Given the description of an element on the screen output the (x, y) to click on. 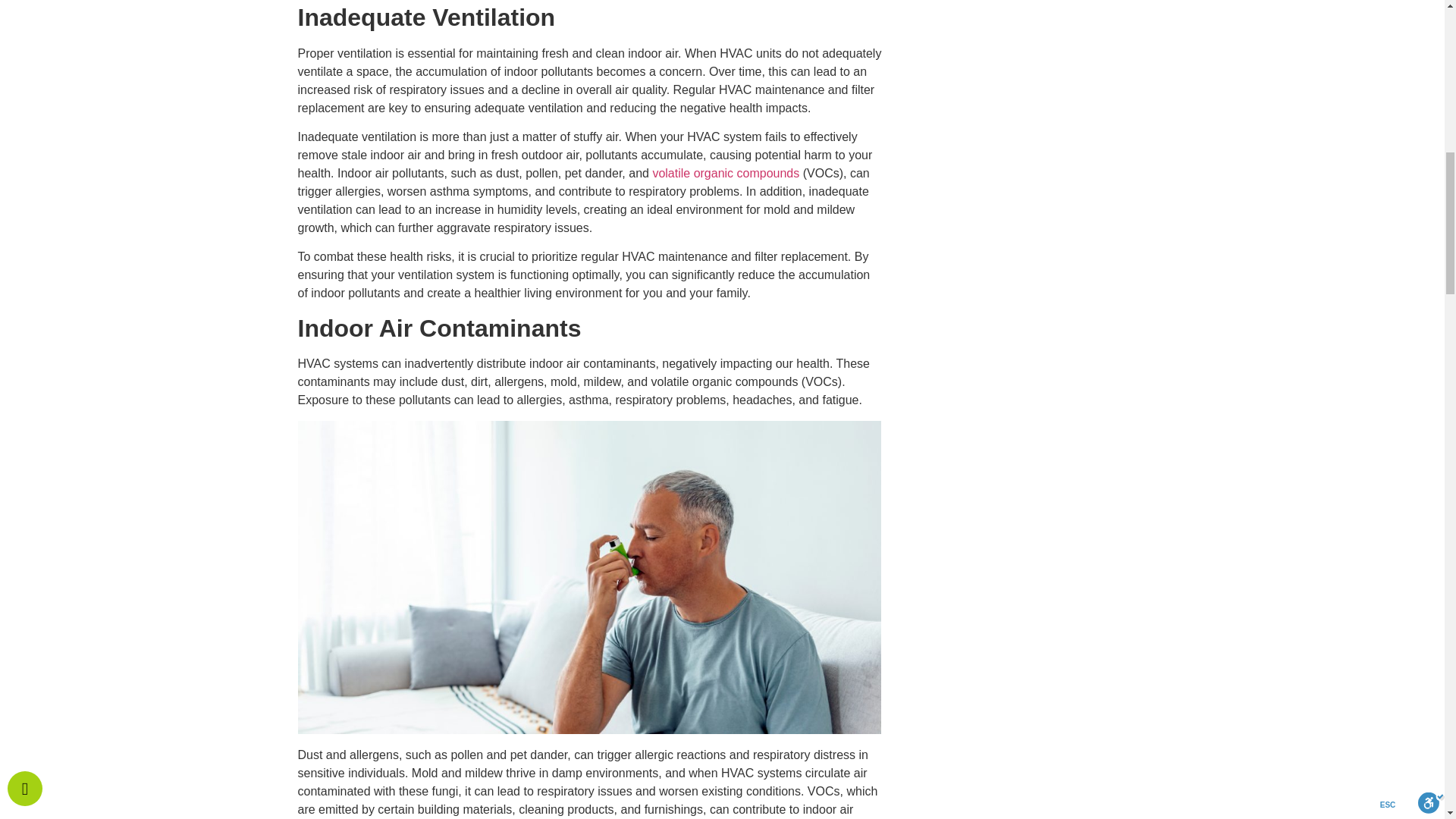
Display the page in brown sepia color (305, 32)
Highlighting all headings marked with title tag (652, 32)
High-contrast of black and yellow (478, 32)
Cancel and Stop display flashes and animations (133, 32)
Inverting the colors of the screen display (565, 32)
Highlighting all links marked with link tag (737, 32)
Presenting an alternative description on mouseover (825, 32)
High-contrast presentation of page (392, 32)
Navigation on the screen with the keyboard (46, 32)
